Given the description of an element on the screen output the (x, y) to click on. 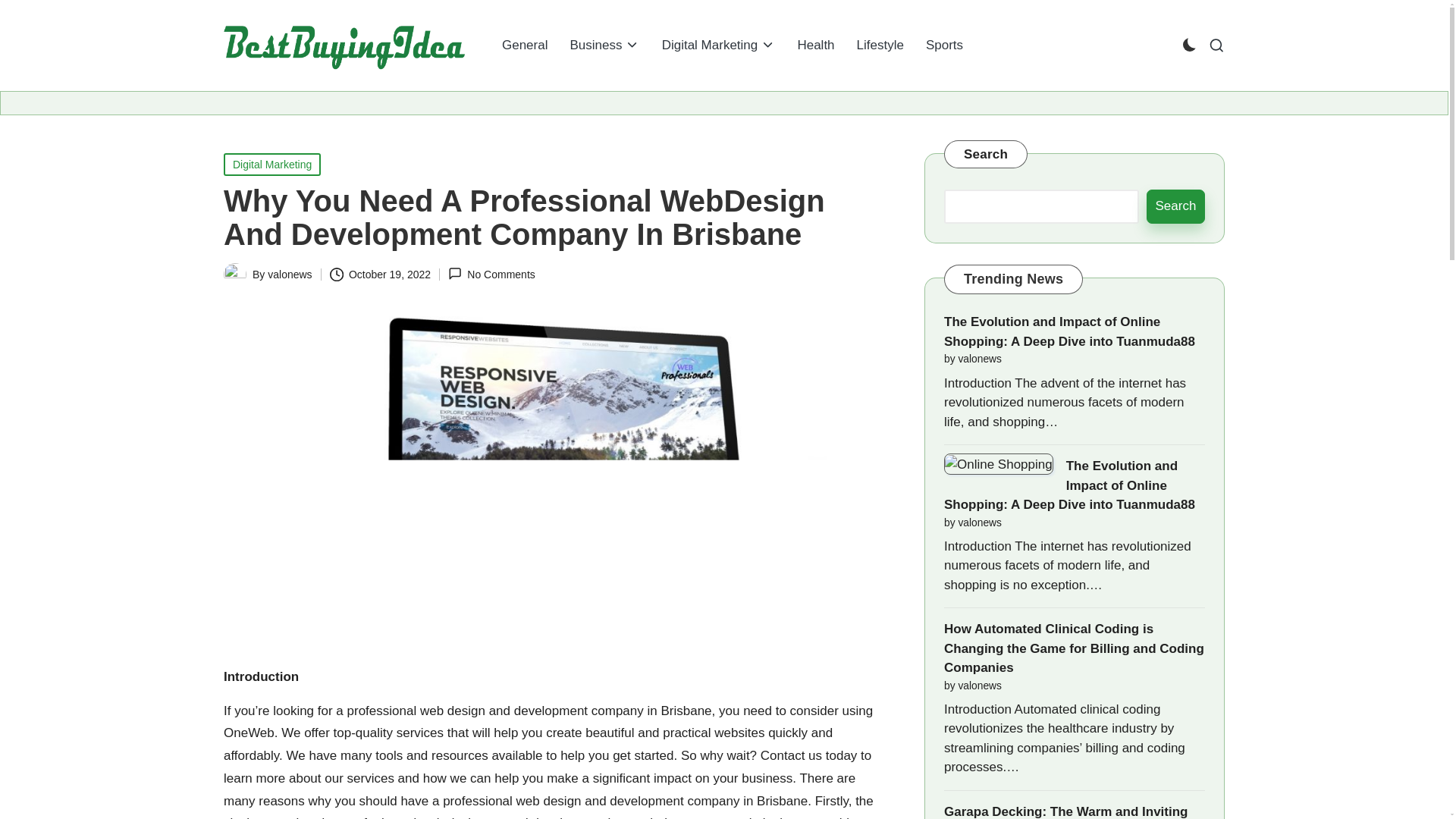
Digital Marketing (718, 45)
No Comments (491, 273)
Lifestyle (879, 45)
General (524, 45)
View all posts by valonews (289, 274)
valonews (289, 274)
Search (1176, 206)
Health (815, 45)
Digital Marketing (272, 164)
Sports (944, 45)
Business (604, 45)
